Given the description of an element on the screen output the (x, y) to click on. 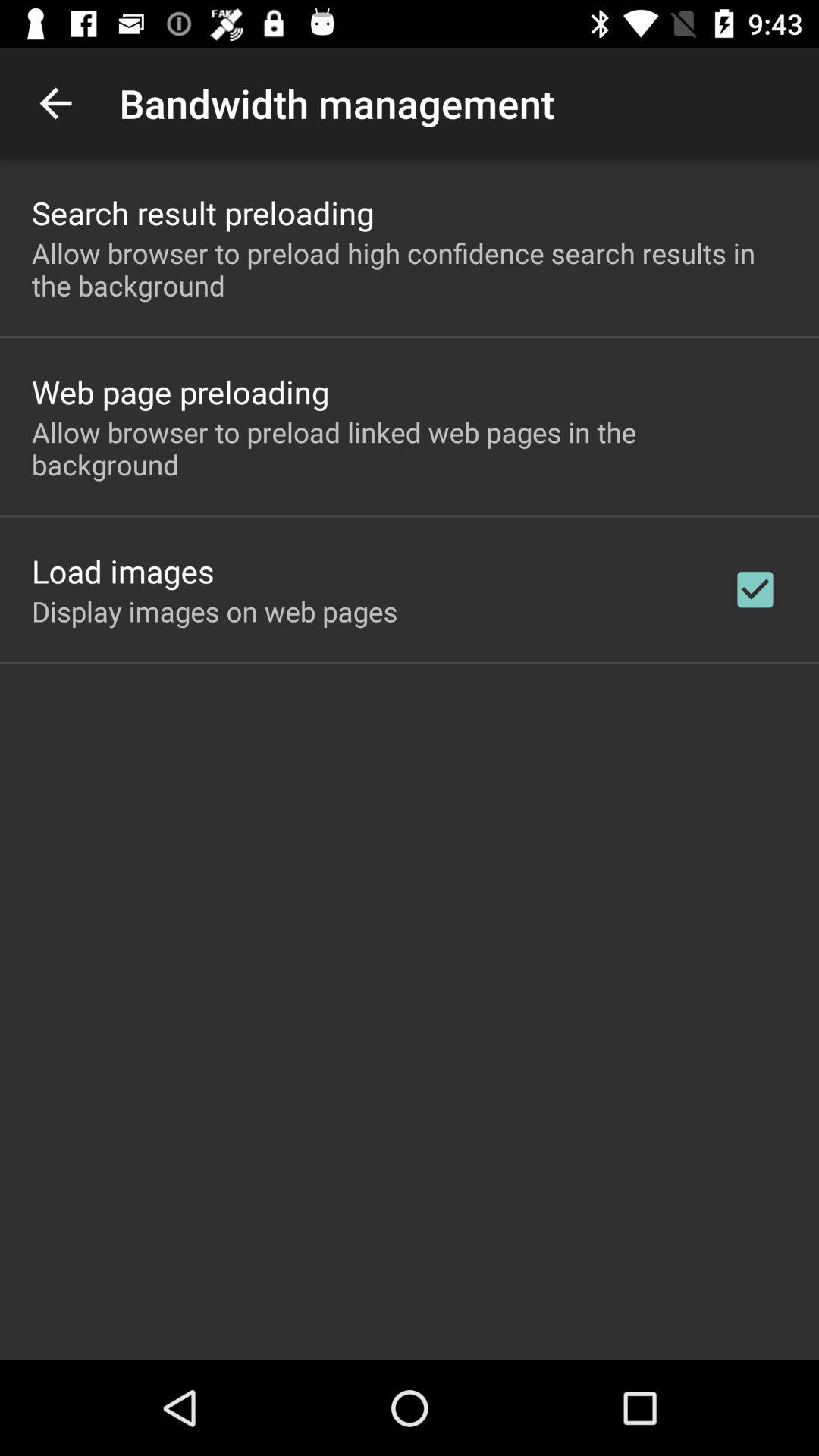
swipe to the search result preloading (202, 212)
